Given the description of an element on the screen output the (x, y) to click on. 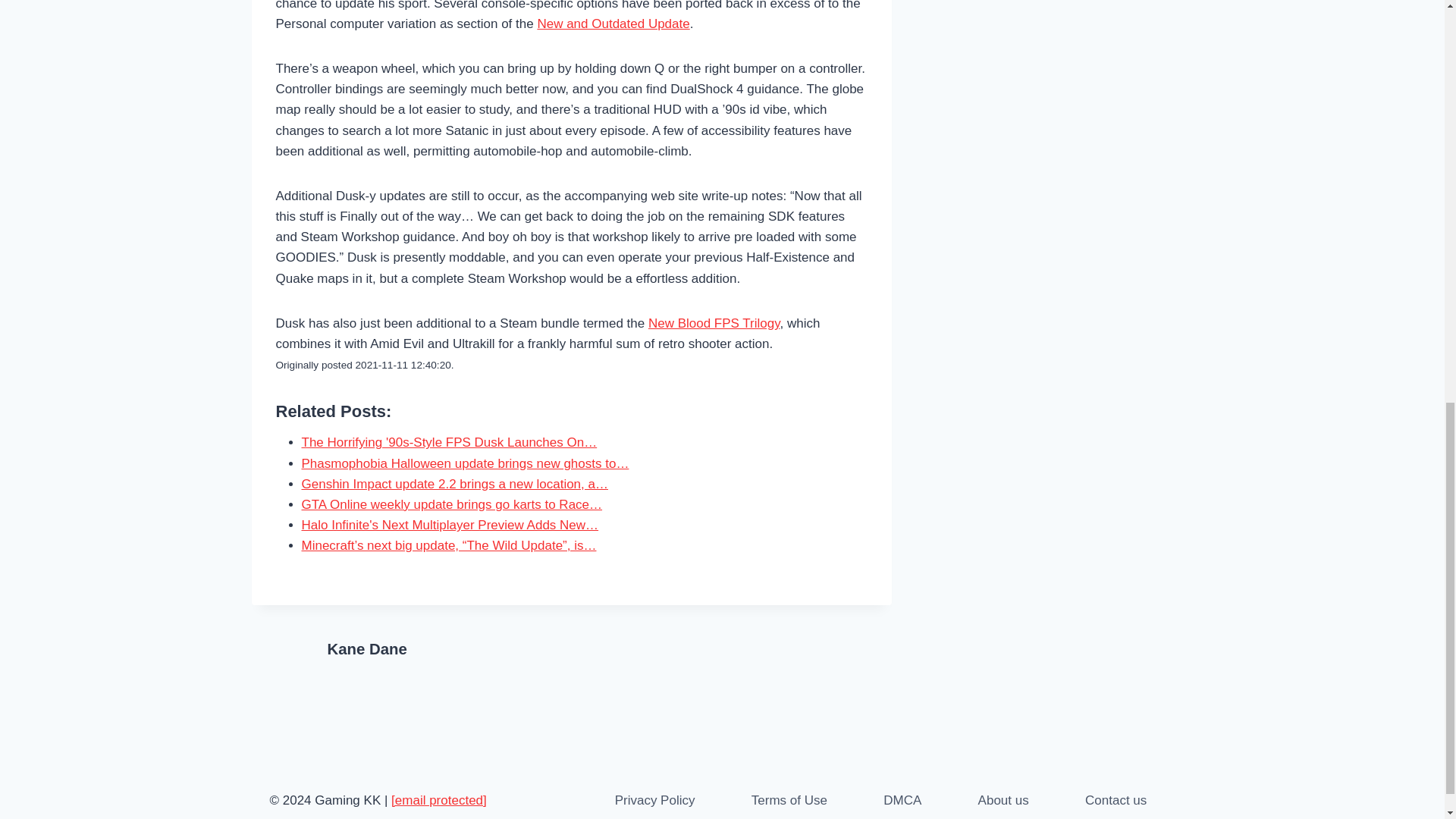
Posts by Kane Dane (367, 648)
New Blood FPS Trilogy (713, 323)
New and Outdated Update (612, 23)
Kane Dane (367, 648)
